Given the description of an element on the screen output the (x, y) to click on. 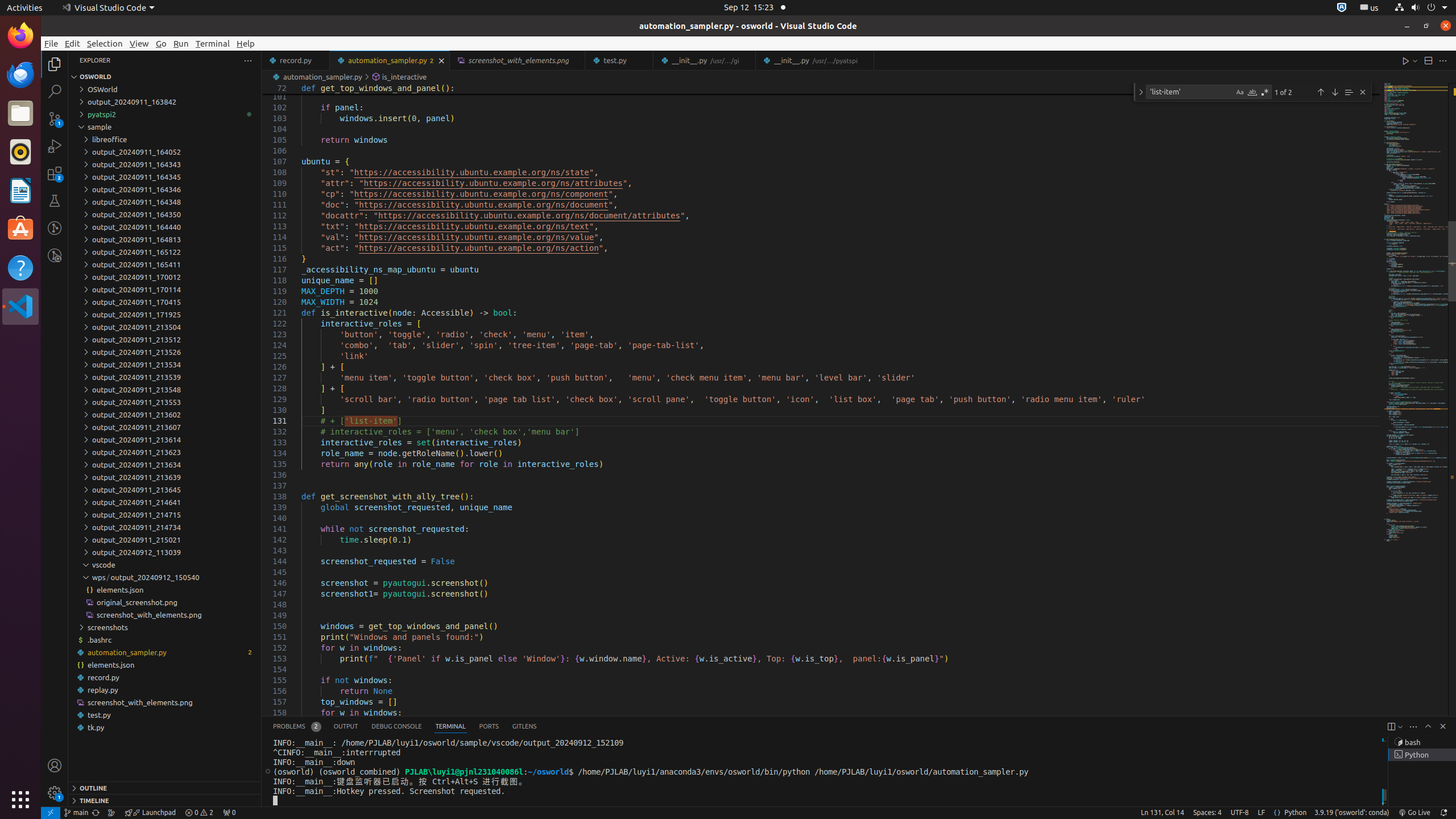
output_20240911_213539 Element type: tree-item (164, 376)
Accounts Element type: push-button (54, 765)
Run and Debug (Ctrl+Shift+D) Element type: page-tab (54, 145)
test.py Element type: page-tab (619, 60)
tk.py Element type: tree-item (164, 727)
